Given the description of an element on the screen output the (x, y) to click on. 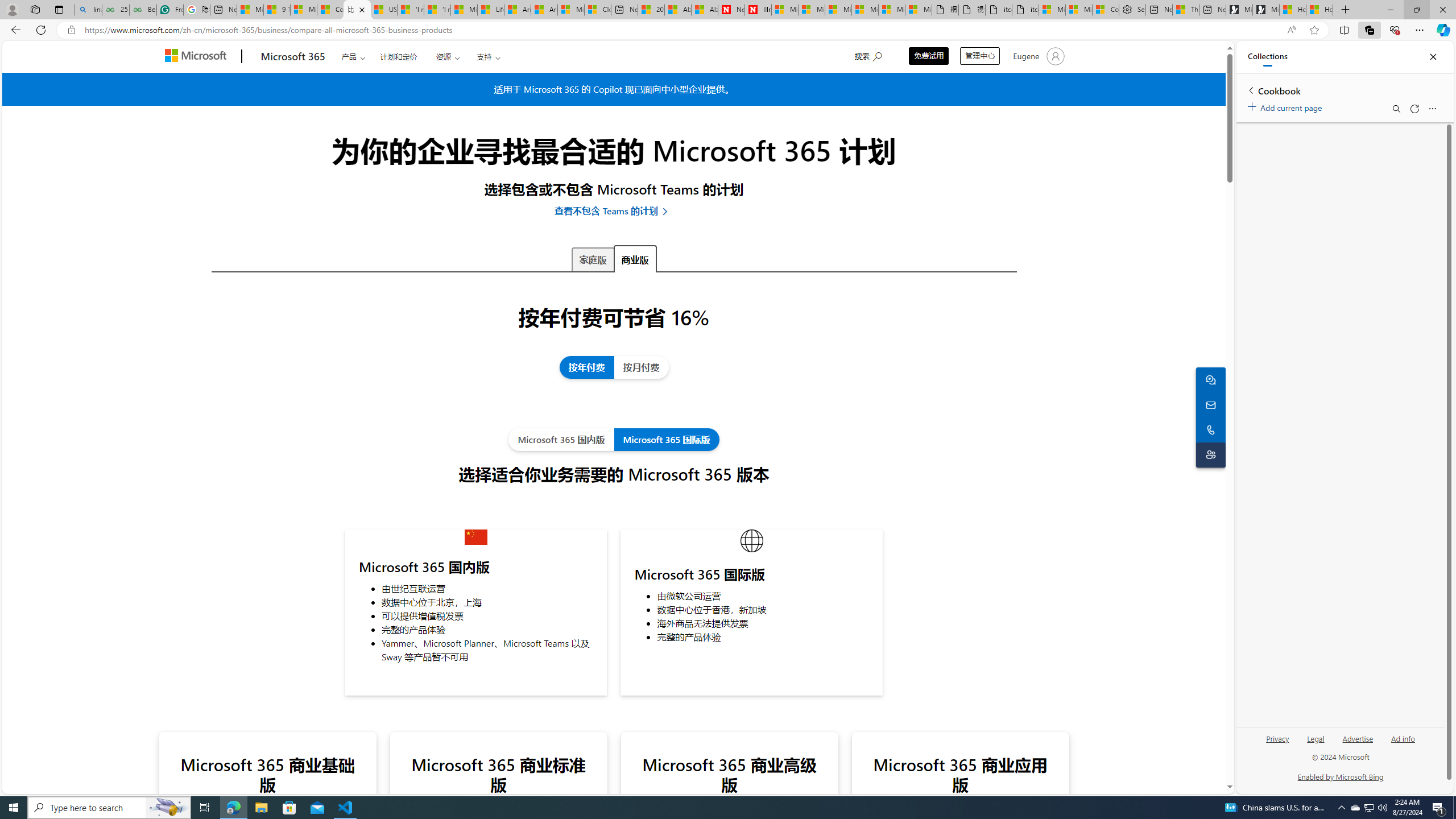
USA TODAY - MSN (383, 9)
